Given the description of an element on the screen output the (x, y) to click on. 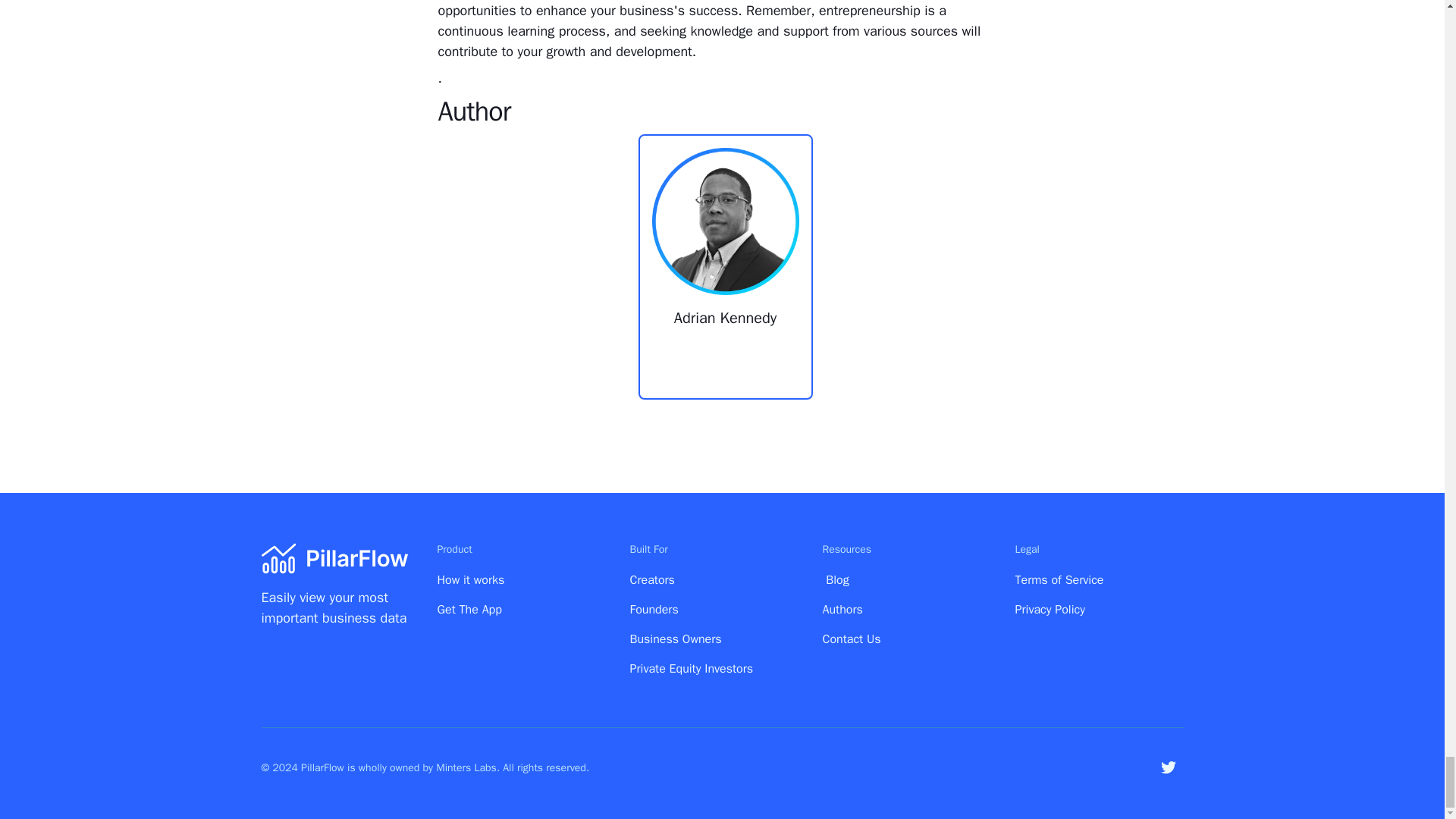
Blog (836, 580)
Get The App (468, 609)
Authors (841, 609)
Privacy Policy (1049, 609)
How it works (469, 580)
Contact Us (851, 639)
Founders (653, 609)
Private Equity Investors (690, 668)
Terms of Service (1058, 580)
Creators (651, 580)
